Given the description of an element on the screen output the (x, y) to click on. 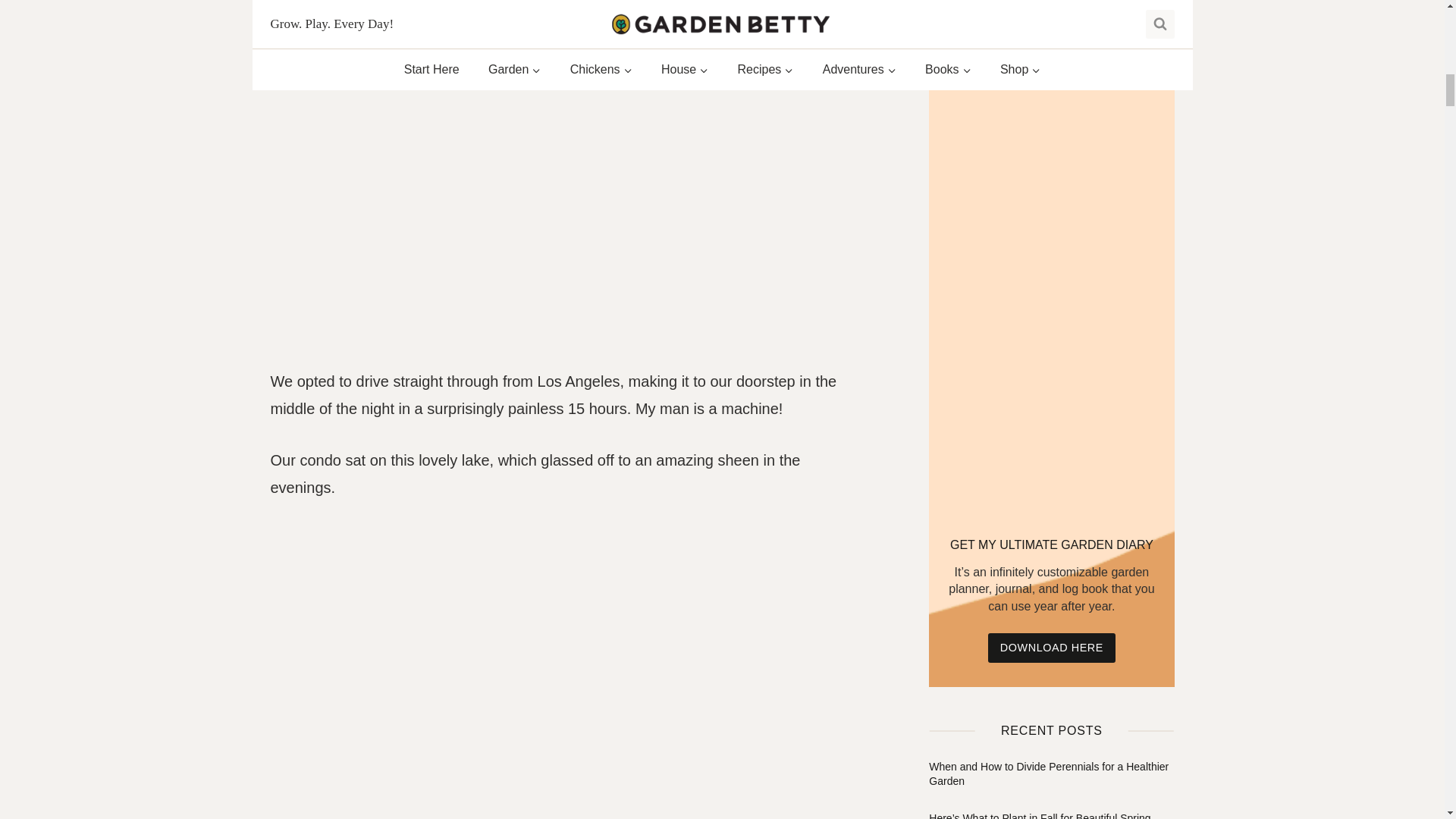
Favorite Moments from Pagosa Springs (563, 11)
